Given the description of an element on the screen output the (x, y) to click on. 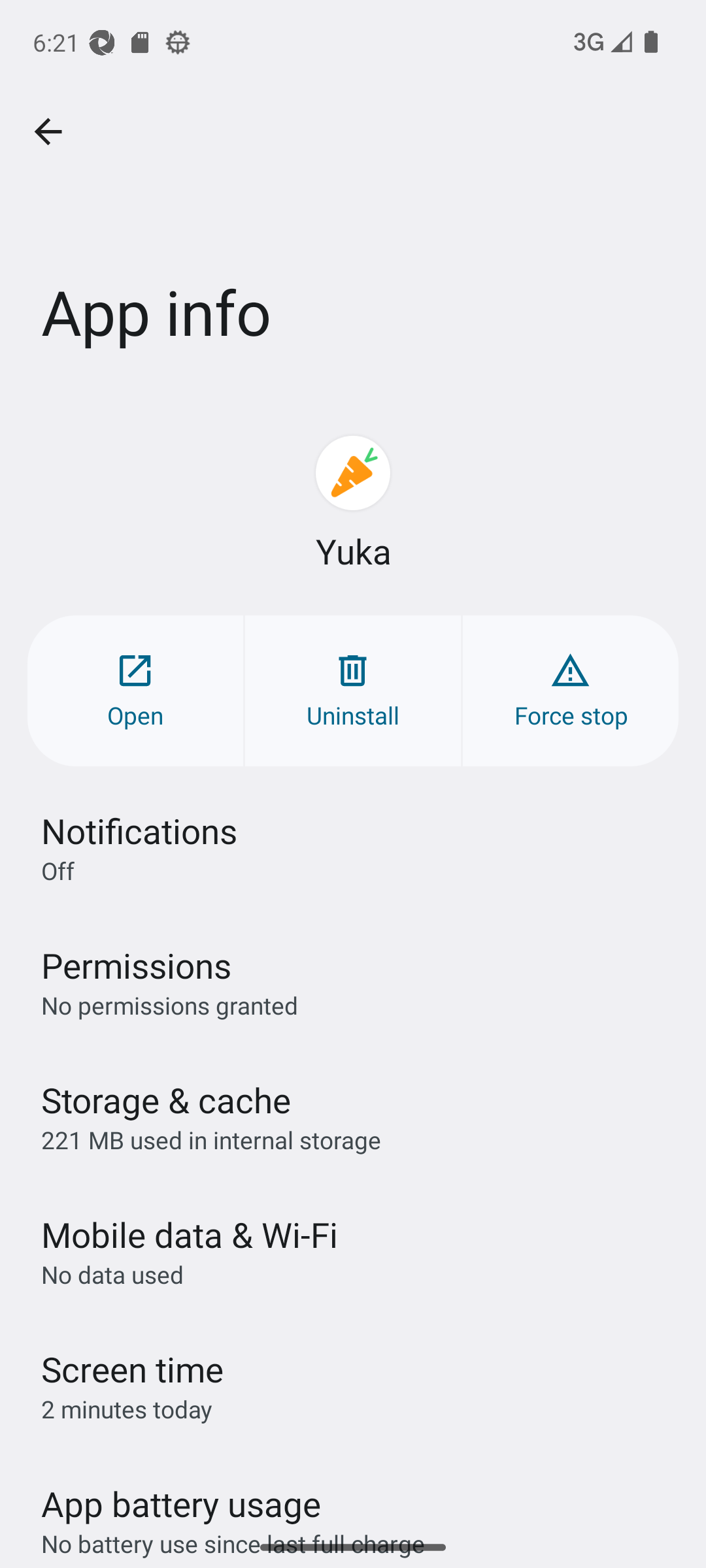
Navigate up (48, 131)
Open (134, 690)
Uninstall (352, 690)
Force stop (570, 690)
Notifications Off (353, 847)
Permissions No permissions granted (353, 981)
Storage & cache 221 MB used in internal storage (353, 1115)
Mobile data & Wi‑Fi No data used (353, 1250)
Screen time 2 minutes today (353, 1385)
